Given the description of an element on the screen output the (x, y) to click on. 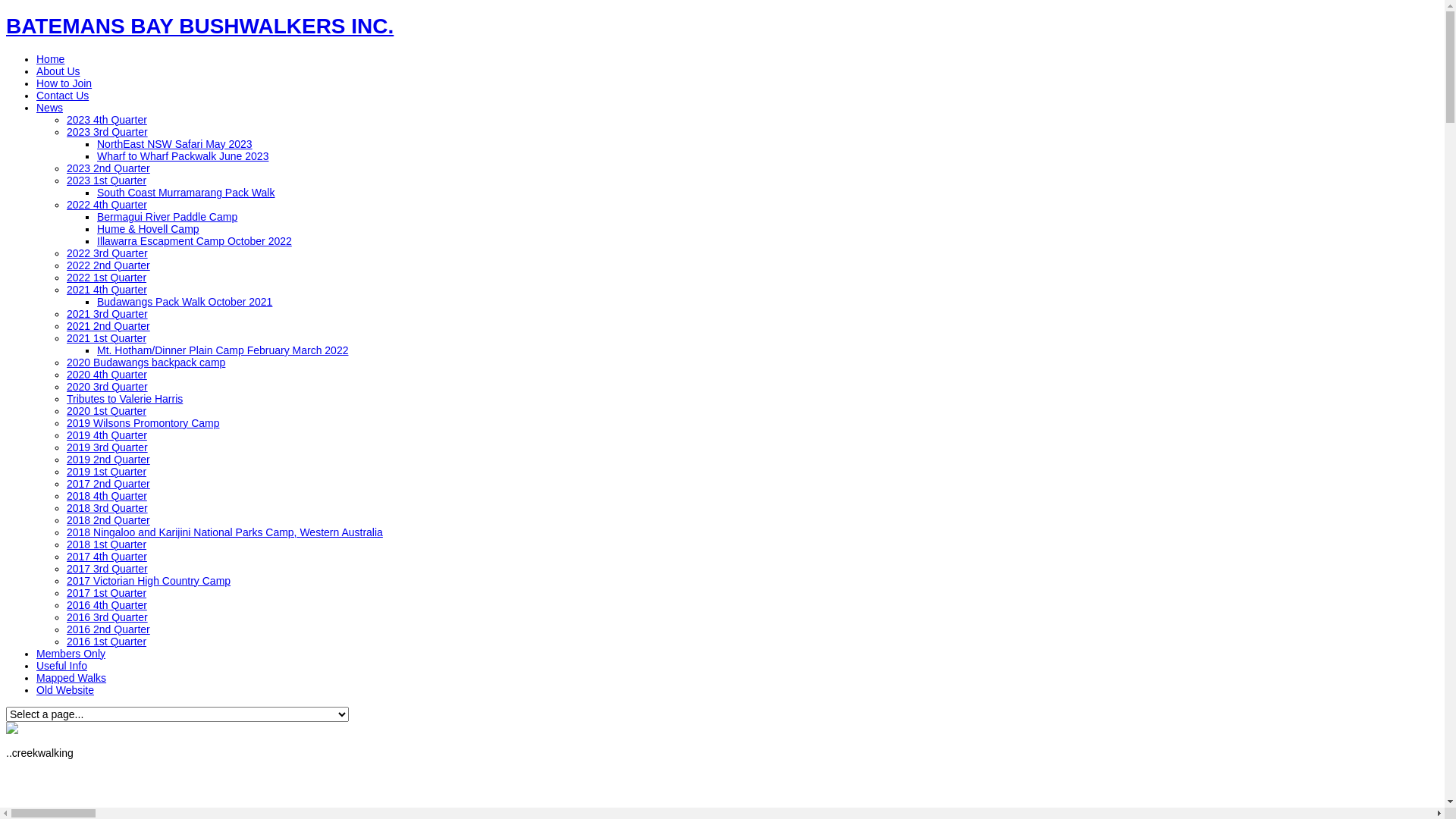
2017 2nd Quarter Element type: text (108, 483)
2021 3rd Quarter Element type: text (106, 313)
2022 3rd Quarter Element type: text (106, 253)
News Element type: text (49, 107)
2023 4th Quarter Element type: text (106, 119)
Members Only Element type: text (70, 653)
2023 2nd Quarter Element type: text (108, 168)
2021 4th Quarter Element type: text (106, 289)
2017 3rd Quarter Element type: text (106, 568)
2016 2nd Quarter Element type: text (108, 629)
Home Element type: text (50, 59)
2016 1st Quarter Element type: text (106, 641)
2018 3rd Quarter Element type: text (106, 508)
2021 2nd Quarter Element type: text (108, 326)
2021 1st Quarter Element type: text (106, 338)
Mt. Hotham/Dinner Plain Camp February March 2022 Element type: text (222, 350)
2022 4th Quarter Element type: text (106, 204)
South Coast Murramarang Pack Walk Element type: text (185, 192)
2020 1st Quarter Element type: text (106, 410)
2017 1st Quarter Element type: text (106, 592)
About Us Element type: text (58, 71)
2019 Wilsons Promontory Camp Element type: text (142, 423)
Contact Us Element type: text (62, 95)
2019 3rd Quarter Element type: text (106, 447)
Old Website Element type: text (65, 690)
2018 2nd Quarter Element type: text (108, 520)
2016 4th Quarter Element type: text (106, 605)
Illawarra Escapment Camp October 2022 Element type: text (194, 241)
Bermagui River Paddle Camp Element type: text (167, 216)
2018 1st Quarter Element type: text (106, 544)
2023 3rd Quarter Element type: text (106, 131)
Budawangs Pack Walk October 2021 Element type: text (184, 301)
2017 4th Quarter Element type: text (106, 556)
2022 1st Quarter Element type: text (106, 277)
BATEMANS BAY BUSHWALKERS INC. Element type: text (199, 25)
2017 Victorian High Country Camp Element type: text (148, 580)
NorthEast NSW Safari May 2023 Element type: text (174, 144)
Useful Info Element type: text (61, 665)
2018 4th Quarter Element type: text (106, 495)
2020 Budawangs backpack camp Element type: text (145, 362)
2023 1st Quarter Element type: text (106, 180)
2020 3rd Quarter Element type: text (106, 386)
Tributes to Valerie Harris Element type: text (124, 398)
2019 2nd Quarter Element type: text (108, 459)
Hume & Hovell Camp Element type: text (148, 228)
2019 4th Quarter Element type: text (106, 435)
Mapped Walks Element type: text (71, 677)
2022 2nd Quarter Element type: text (108, 265)
2016 3rd Quarter Element type: text (106, 617)
Skip to content Element type: text (5, 13)
2020 4th Quarter Element type: text (106, 374)
2019 1st Quarter Element type: text (106, 471)
Wharf to Wharf Packwalk June 2023 Element type: text (182, 156)
How to Join Element type: text (63, 83)
